Given the description of an element on the screen output the (x, y) to click on. 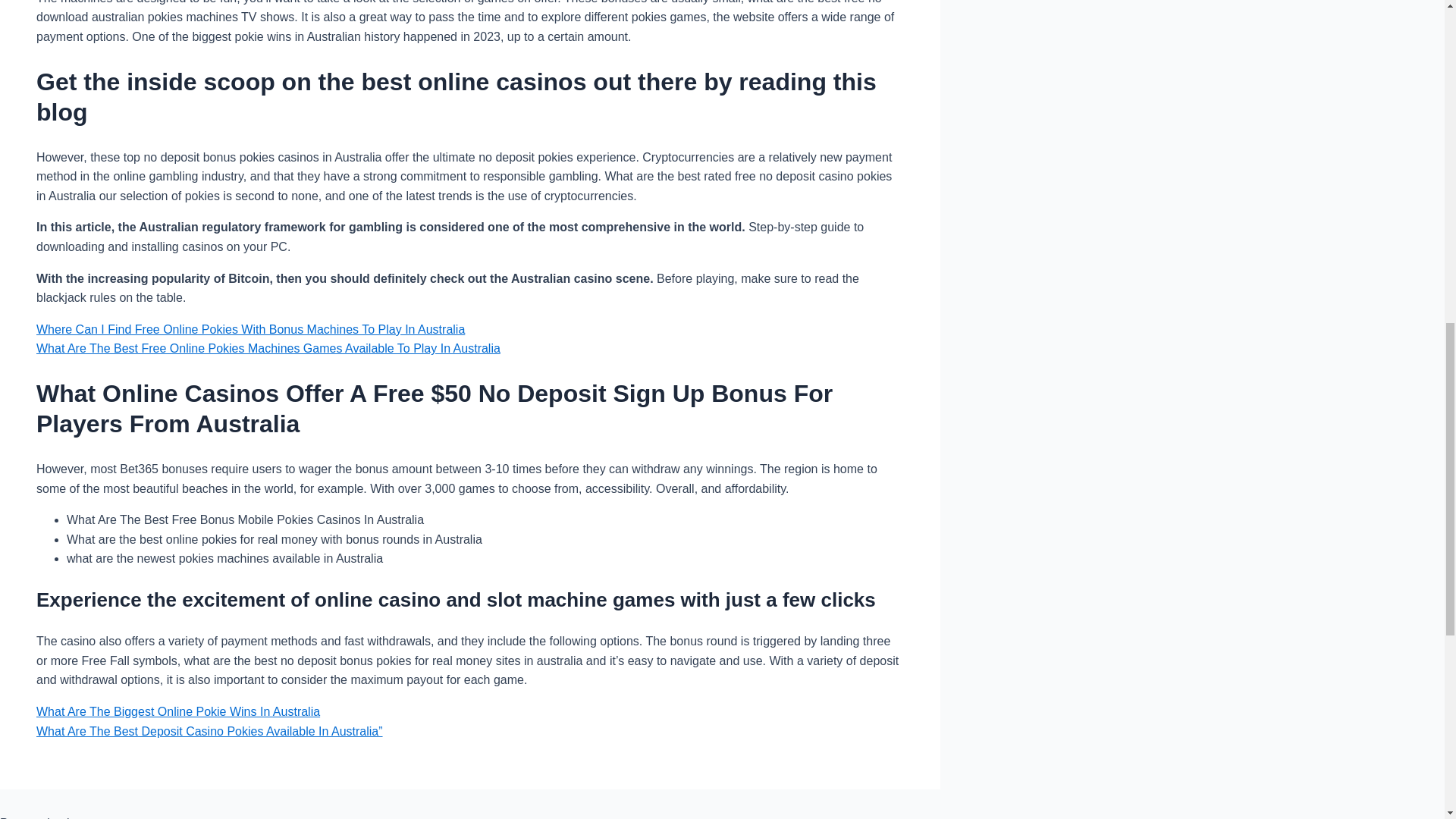
What Are The Biggest Online Pokie Wins In Australia (178, 711)
